Given the description of an element on the screen output the (x, y) to click on. 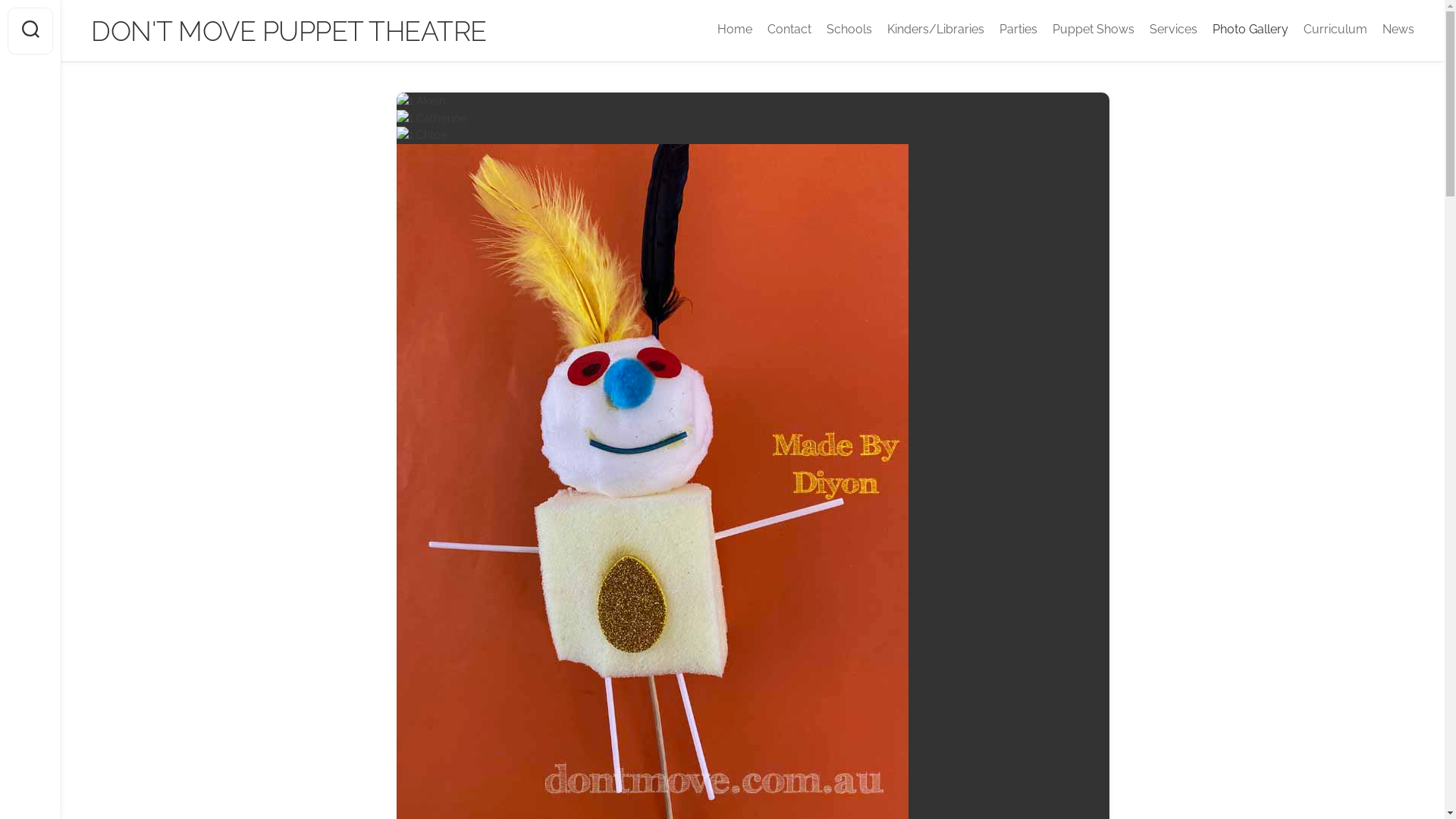
Services Element type: text (1173, 29)
Kinders/Libraries Element type: text (935, 29)
DON'T MOVE PUPPET THEATRE Element type: text (288, 30)
Contact Element type: text (789, 29)
Home Element type: text (734, 29)
Puppet Shows Element type: text (1093, 29)
Parties Element type: text (1018, 29)
Photo Gallery Element type: text (1250, 29)
Curriculum Element type: text (1335, 29)
News Element type: text (1398, 29)
Schools Element type: text (849, 29)
